Given the description of an element on the screen output the (x, y) to click on. 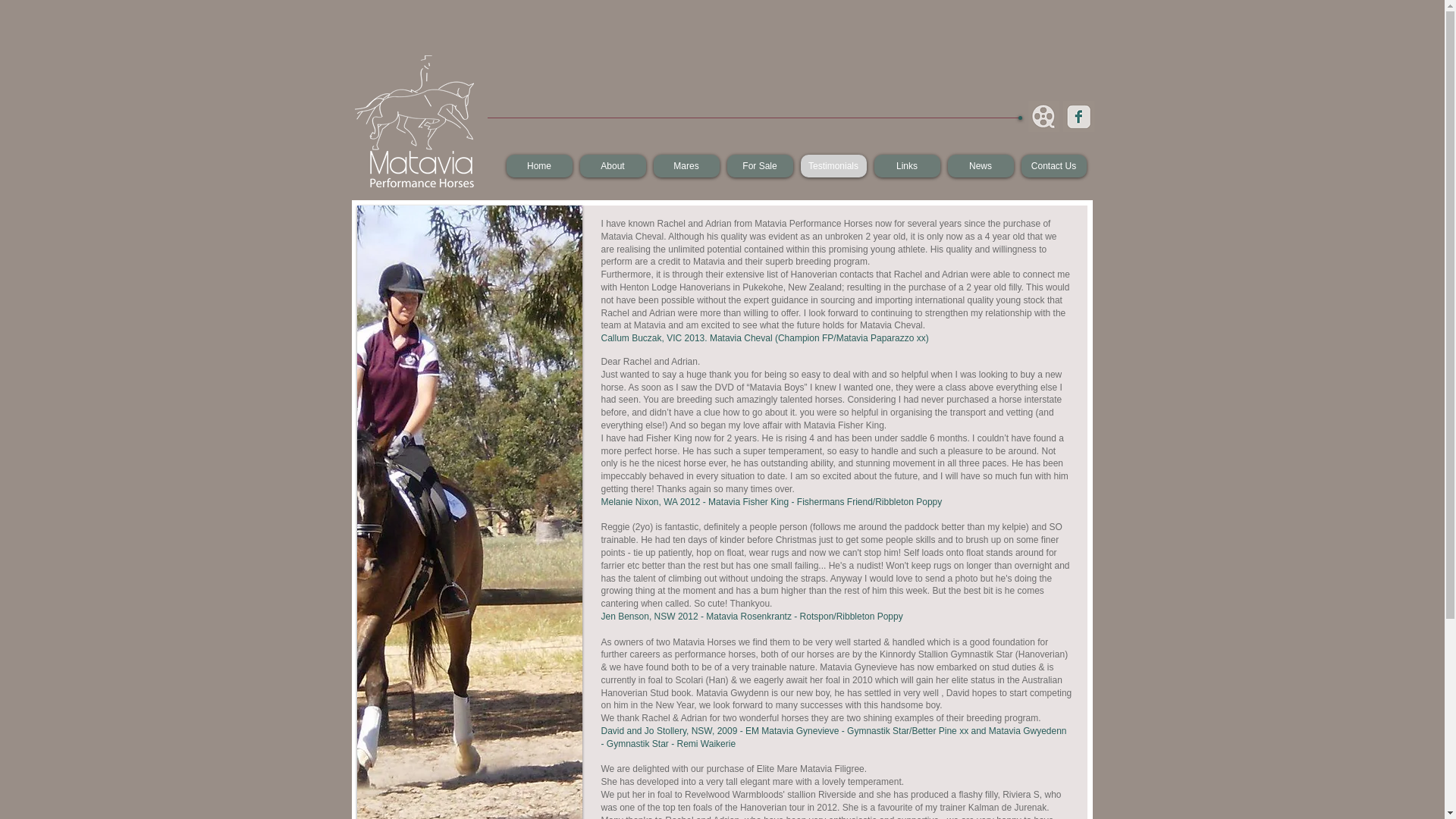
Home Element type: text (539, 165)
Mares Element type: text (686, 165)
For Sale Element type: text (759, 165)
Testimonials Element type: text (833, 165)
Matavi Logo_REV.png Element type: hover (413, 121)
Contact Us Element type: text (1052, 165)
About Element type: text (612, 165)
News Element type: text (980, 165)
Links Element type: text (906, 165)
